Given the description of an element on the screen output the (x, y) to click on. 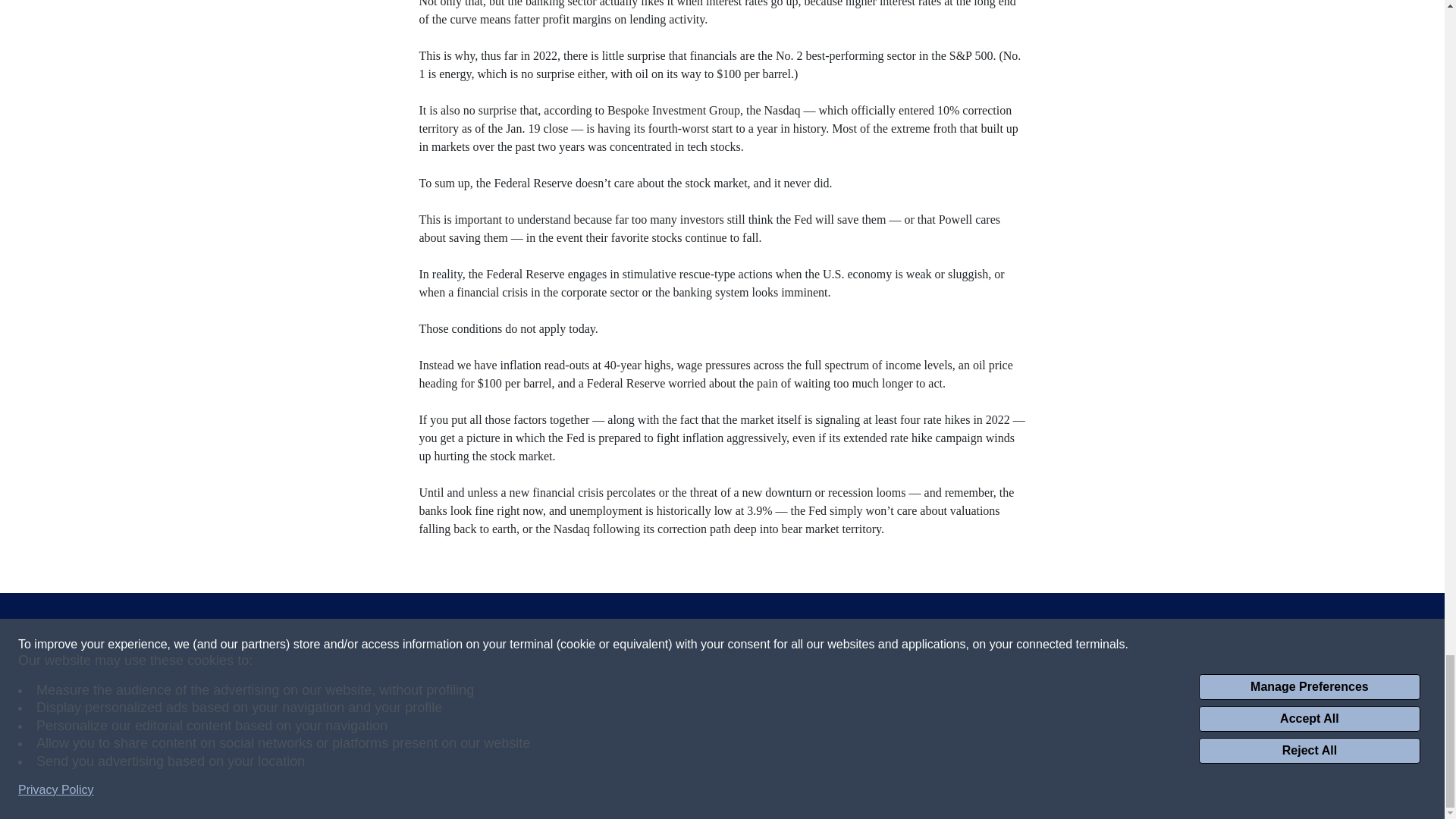
Cookie Preferences (683, 761)
Careers (768, 761)
Terms of Use (358, 761)
here (1115, 750)
Looking for Derby City Insights? (1034, 729)
Ad Choices (437, 761)
Do Not Sell My Information (551, 761)
Privacy Policy (272, 761)
